Given the description of an element on the screen output the (x, y) to click on. 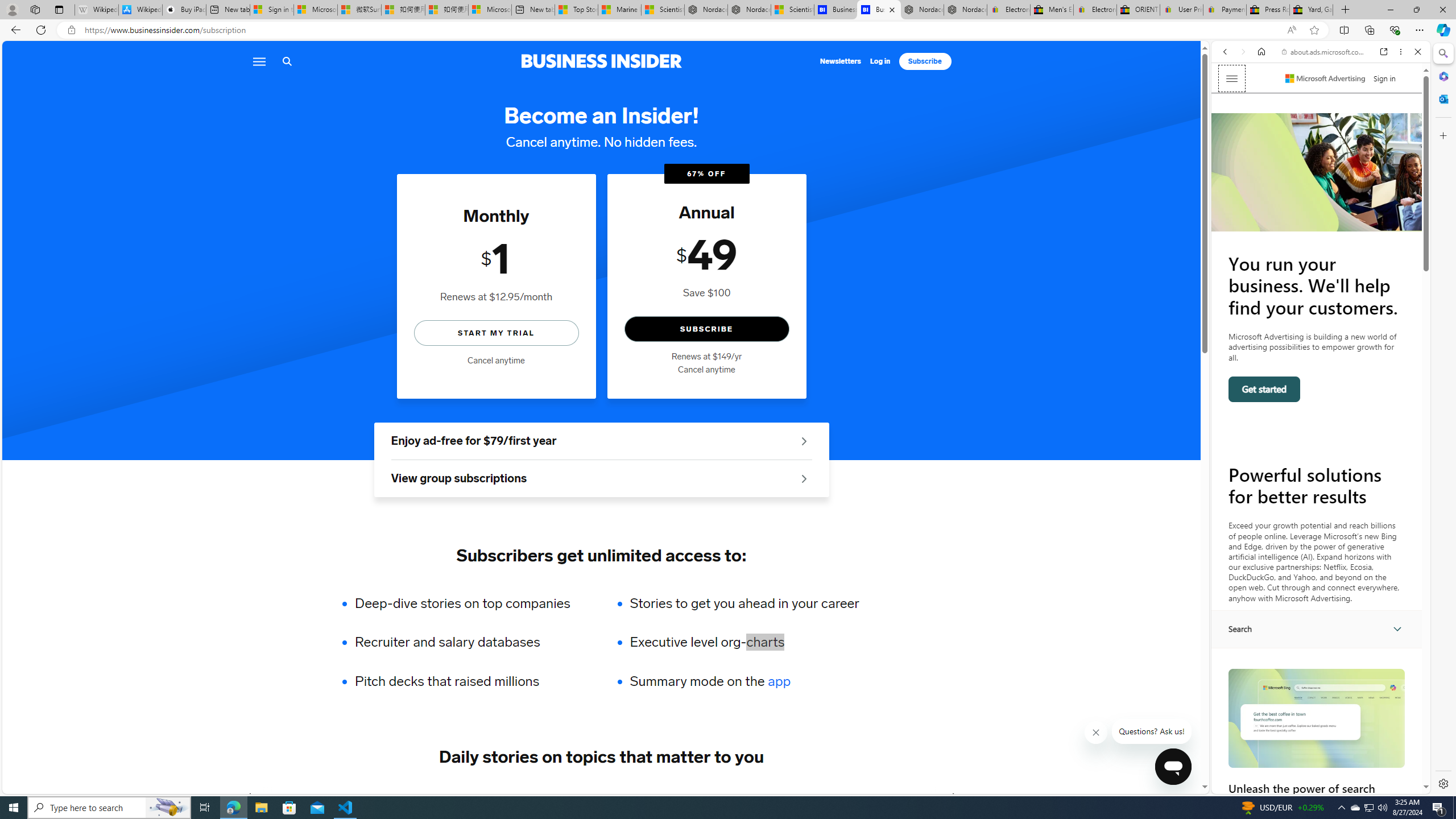
Open messaging window (1172, 766)
Business Insider logo (601, 60)
Business Insider logo (601, 60)
Subscribe (925, 61)
SUBSCRIBE (706, 329)
